Given the description of an element on the screen output the (x, y) to click on. 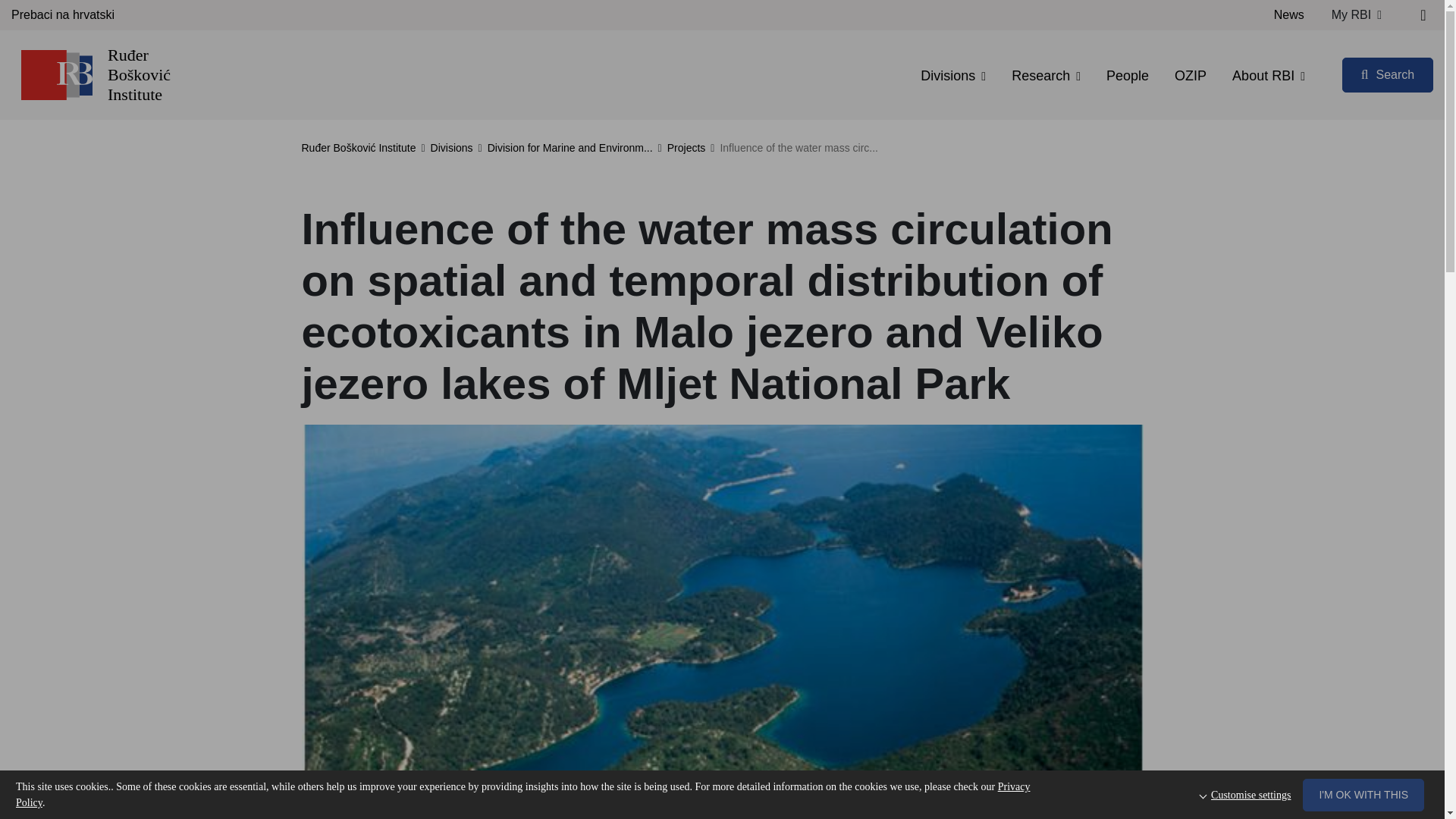
Search (1387, 74)
Prebaci na hrvatski (63, 15)
News (1289, 14)
Prebaci na hrvatski (63, 15)
Back to home page (56, 74)
People (1127, 75)
OZIP (1190, 75)
